Given the description of an element on the screen output the (x, y) to click on. 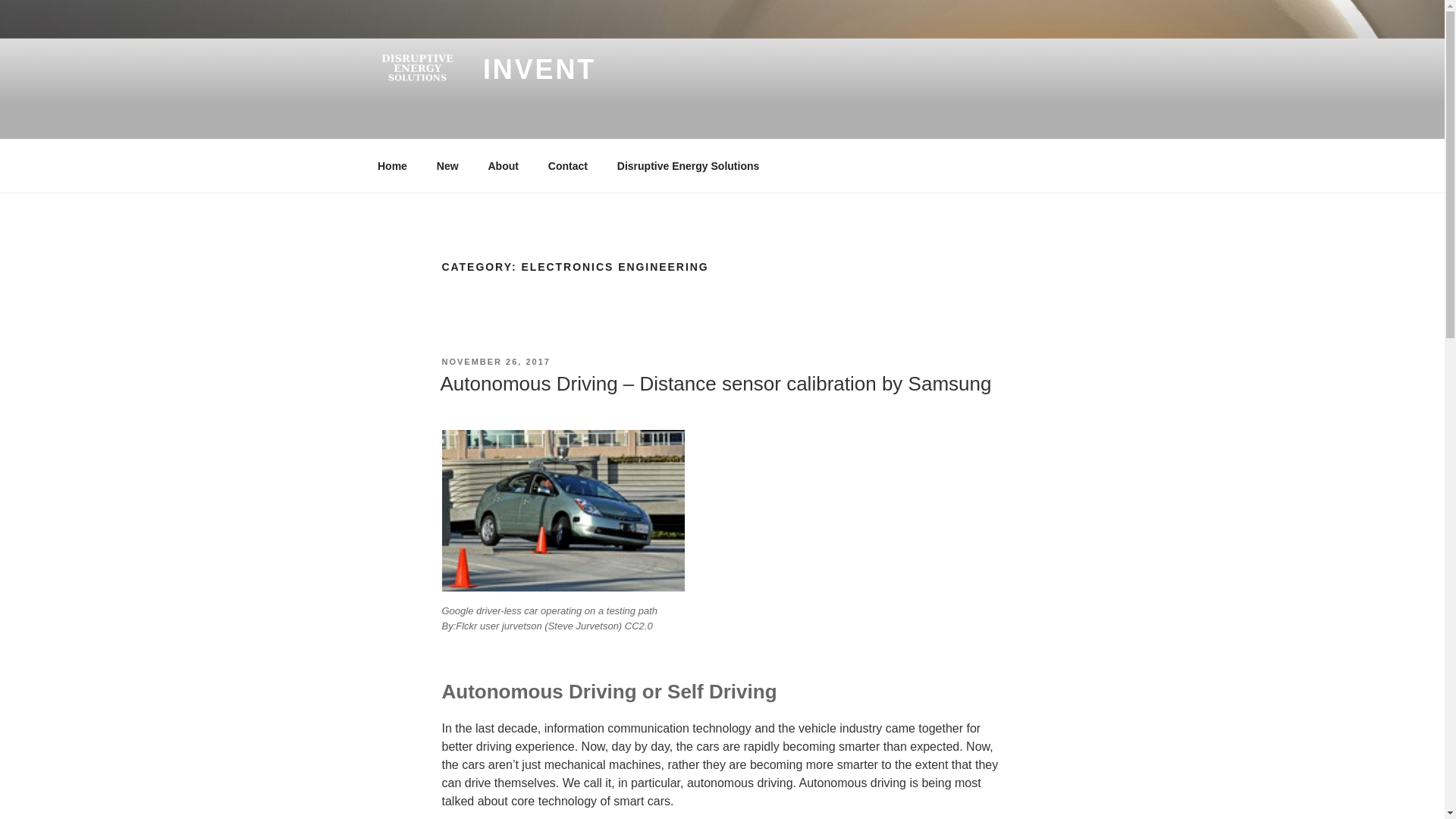
Home (392, 165)
Contact (566, 165)
INVENT (539, 69)
New (447, 165)
Disruptive Energy Solutions (687, 165)
About (502, 165)
NOVEMBER 26, 2017 (495, 361)
